Given the description of an element on the screen output the (x, y) to click on. 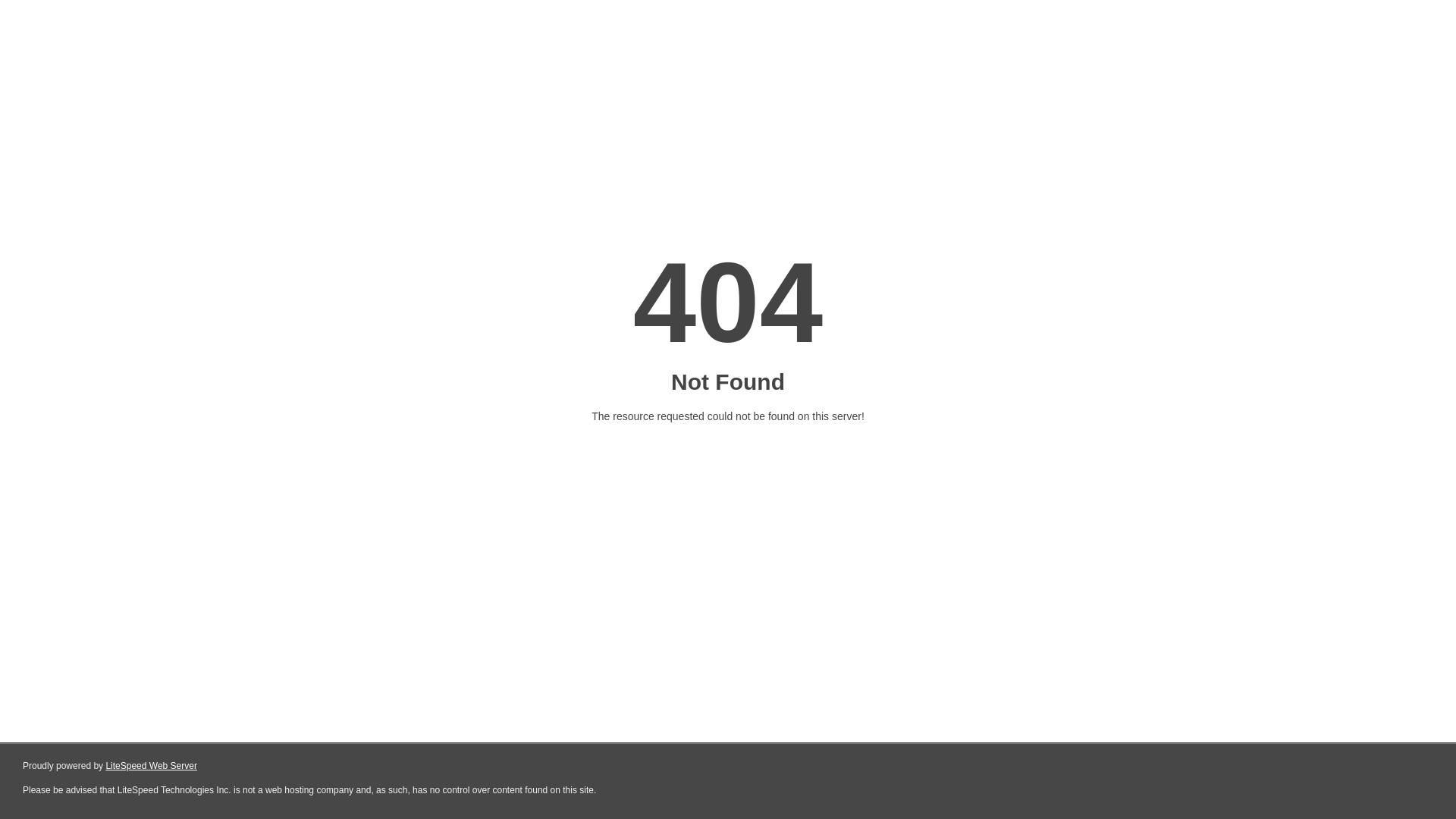
LiteSpeed Web Server Element type: text (151, 765)
